Given the description of an element on the screen output the (x, y) to click on. 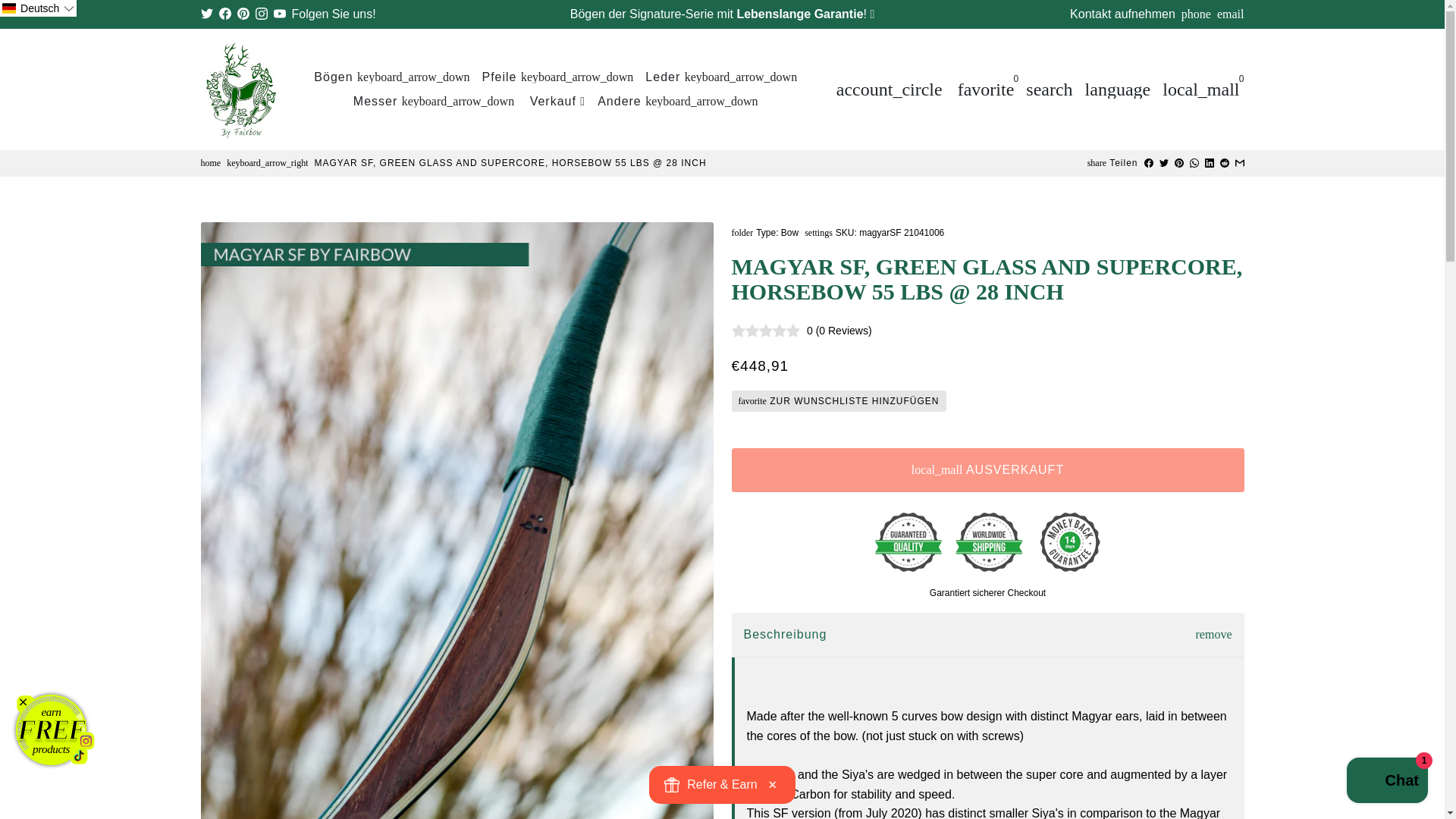
phone (1195, 13)
Fairbow auf Youtube (279, 13)
Fairbow auf Facebook (224, 13)
Einloggen (889, 89)
Fairbow auf Twitter (206, 13)
Fairbow auf Pinterest (241, 13)
Warenkorb (1200, 89)
Wunschzettel (986, 89)
Suchen (1049, 89)
email (1230, 13)
Fairbow auf Instagram (260, 13)
